Given the description of an element on the screen output the (x, y) to click on. 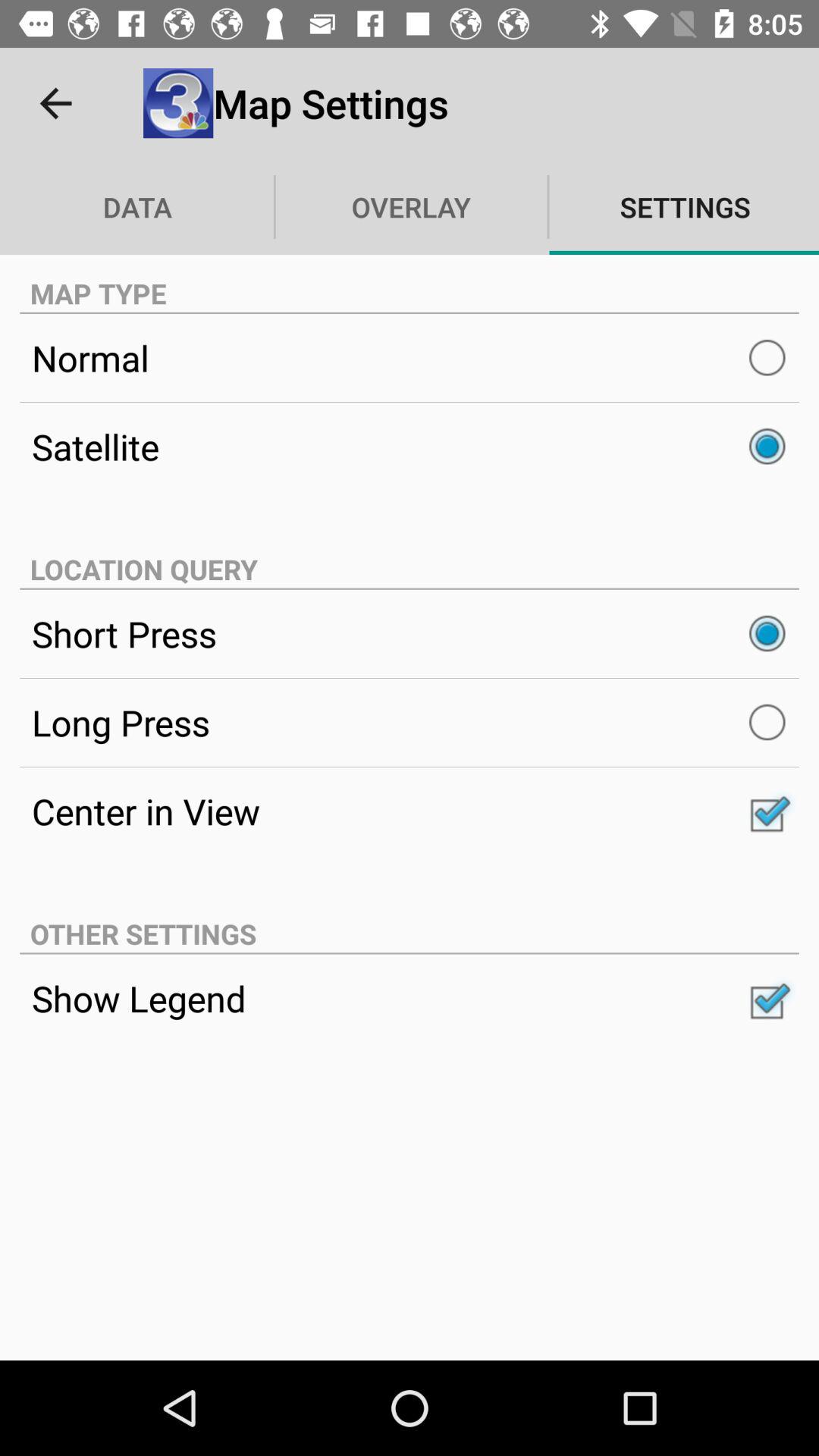
flip to the normal icon (409, 357)
